Given the description of an element on the screen output the (x, y) to click on. 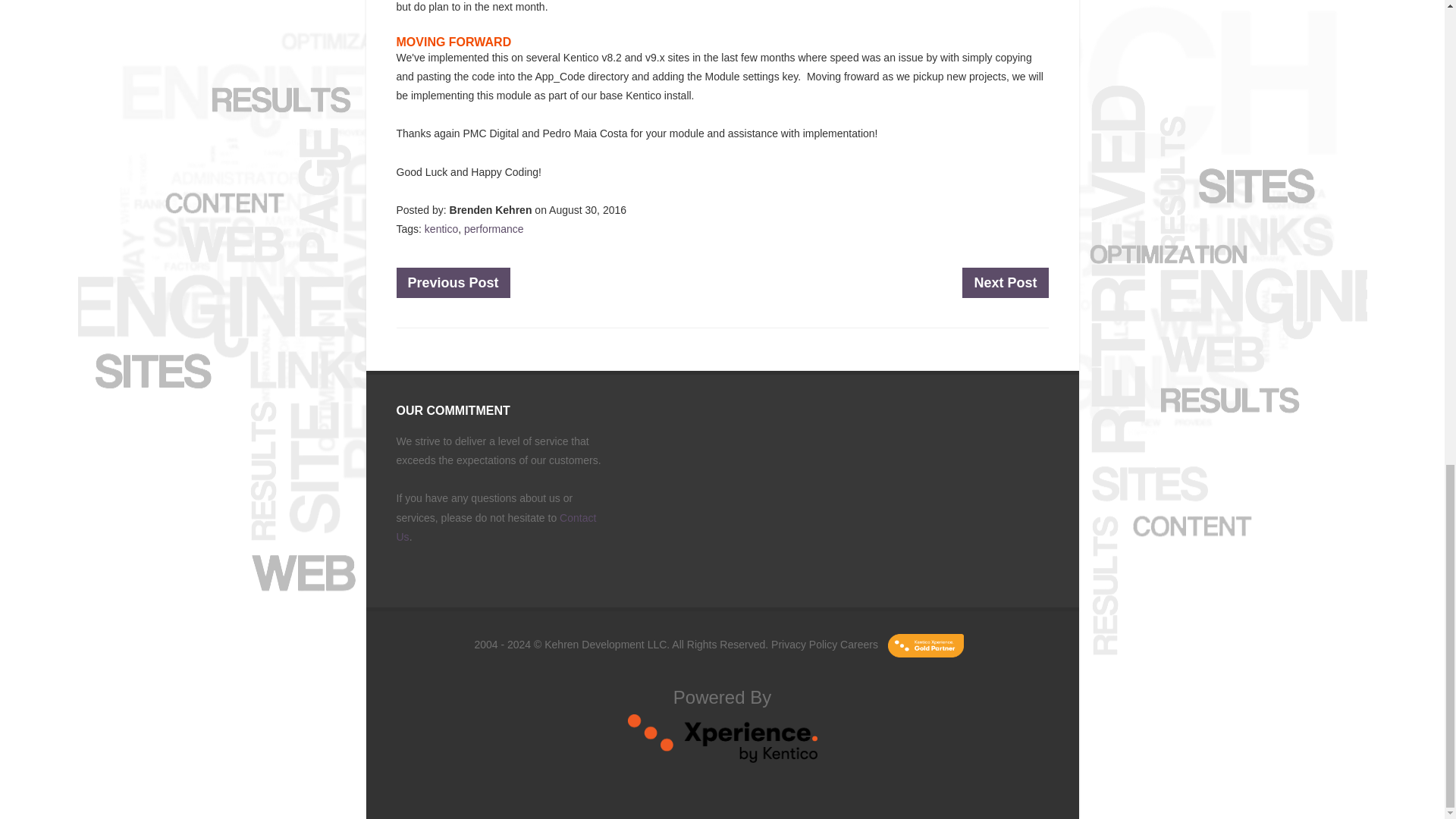
Privacy Policy (804, 644)
Kehren Development LLC (605, 644)
performance (494, 228)
Previous Post (452, 282)
Contact Us (495, 526)
Xperience (721, 758)
kentico (441, 228)
Careers (858, 644)
Next Post (1005, 282)
